Given the description of an element on the screen output the (x, y) to click on. 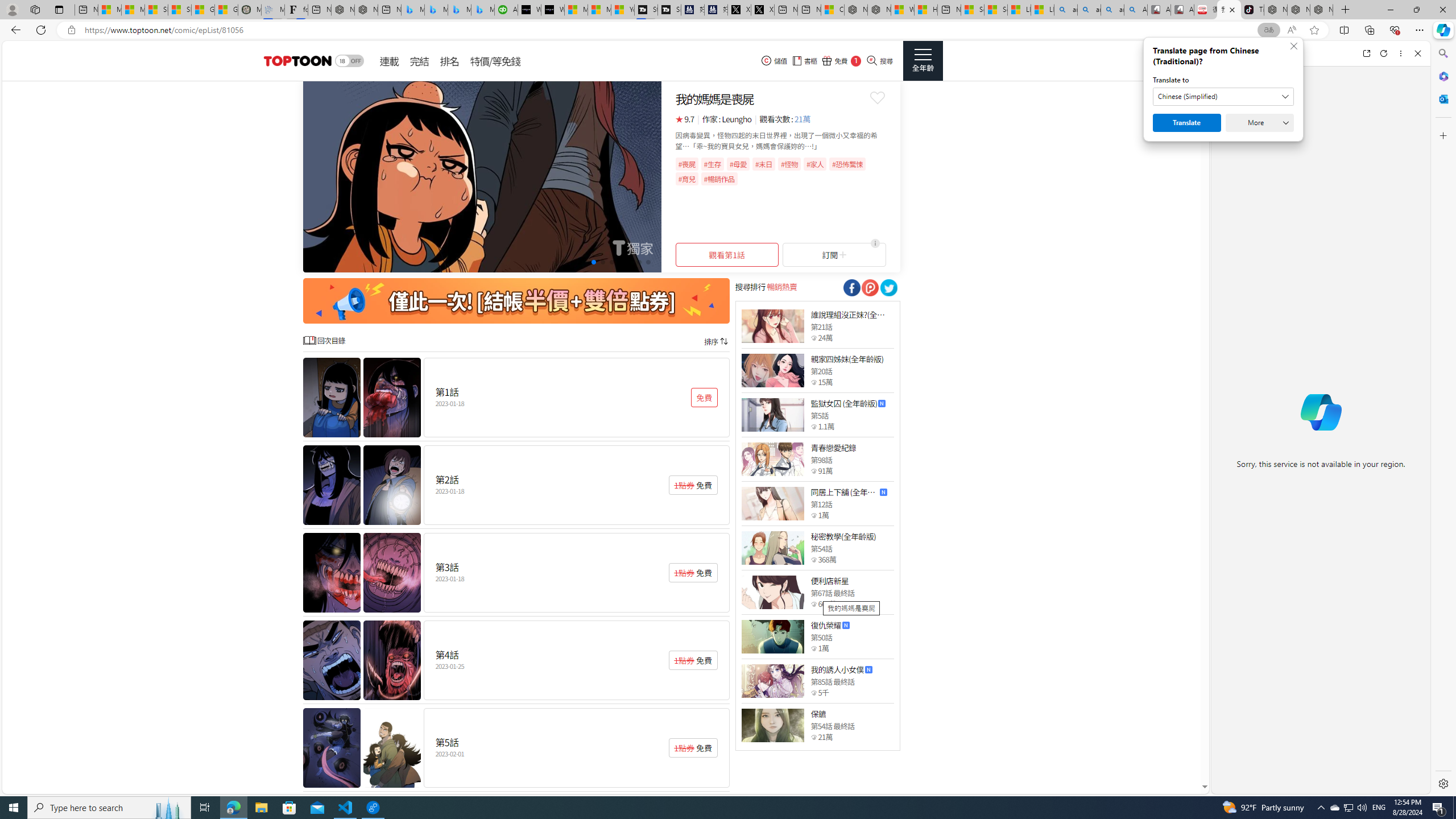
amazon - Search (1089, 9)
Go to slide 3 (584, 261)
Class: swiper-slide swiper-slide-active (481, 176)
Compose (1280, 52)
